Given the description of an element on the screen output the (x, y) to click on. 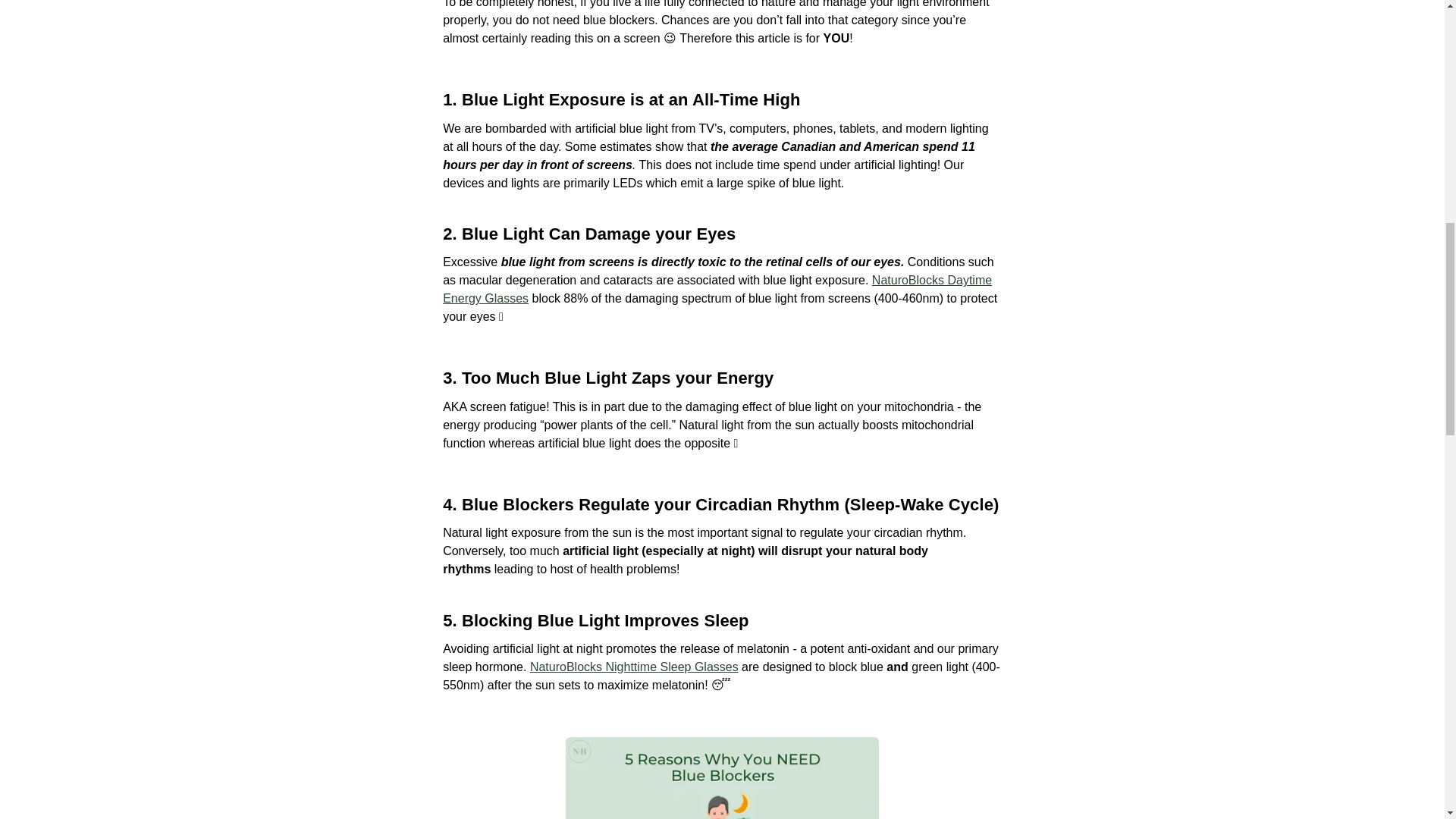
NaturoBlocks Daytime Energy Blue Light Blocking Glasses (716, 288)
NaturoBlocks Daytime Energy Glasses (716, 288)
NaturoBlocks Nighttime Sleep Blue Light Blocking Glasses (633, 666)
NaturoBlocks Nighttime Sleep Glasses (633, 666)
